Given the description of an element on the screen output the (x, y) to click on. 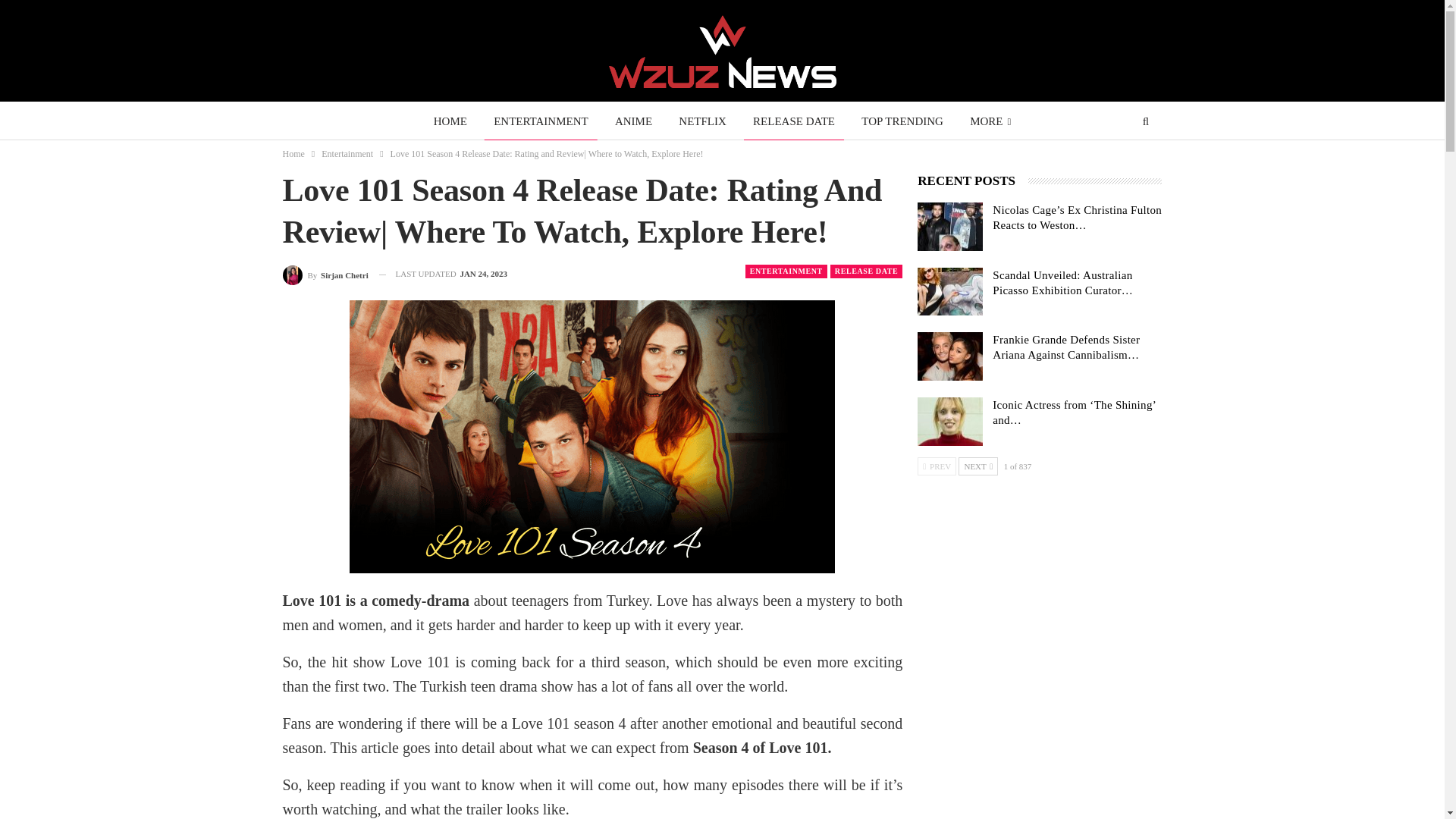
ENTERTAINMENT (540, 121)
Entertainment (346, 153)
ENTERTAINMENT (786, 271)
By Sirjan Chetri (325, 273)
ANIME (633, 121)
NETFLIX (702, 121)
MORE (990, 121)
HOME (450, 121)
TOP TRENDING (901, 121)
Browse Author Articles (325, 273)
